Given the description of an element on the screen output the (x, y) to click on. 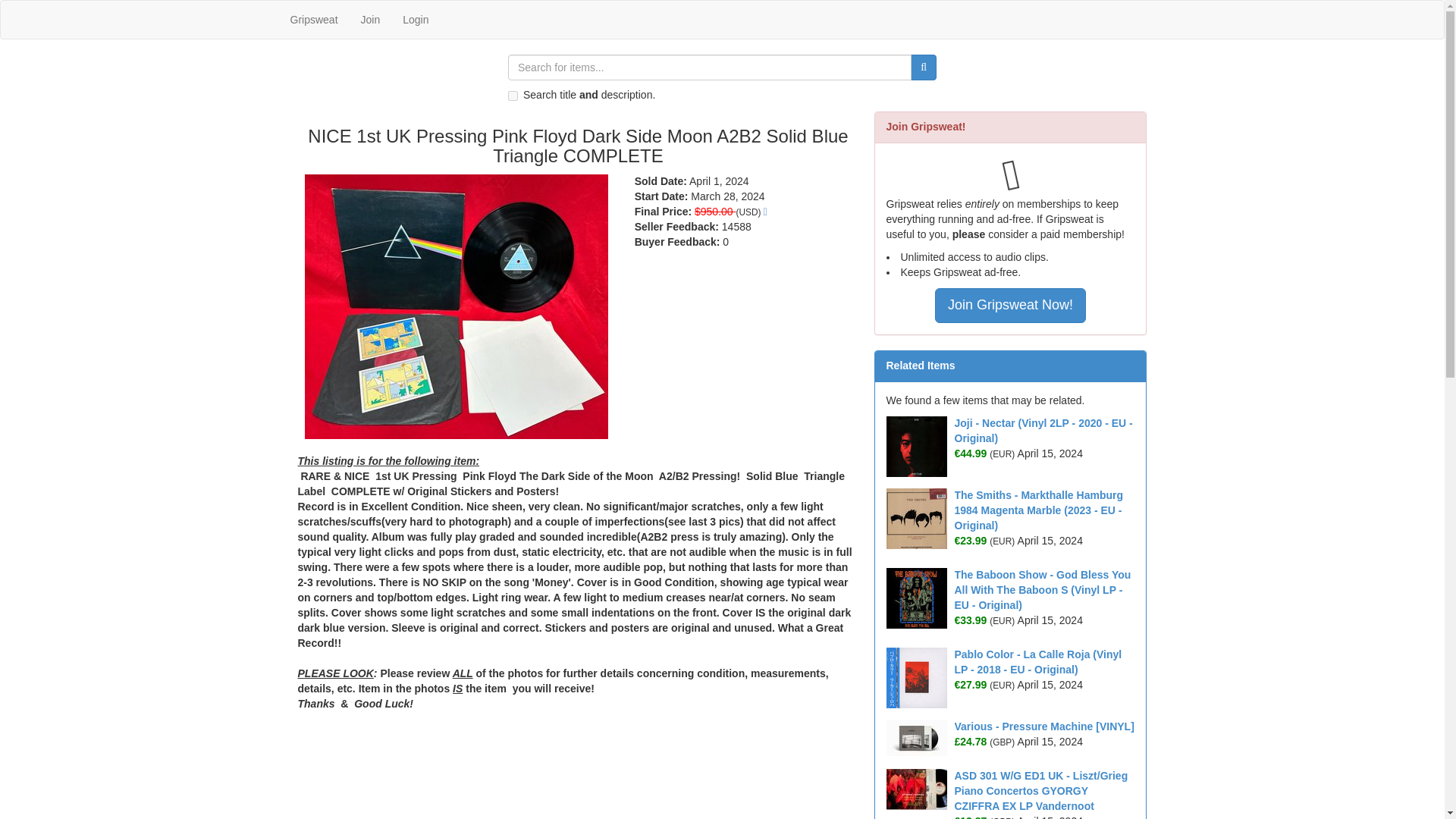
Login (415, 19)
Join (370, 19)
1 (513, 95)
Join Gripsweat Now! (1010, 305)
Join Gripsweat Now! (1009, 305)
Gripsweat (314, 19)
